Given the description of an element on the screen output the (x, y) to click on. 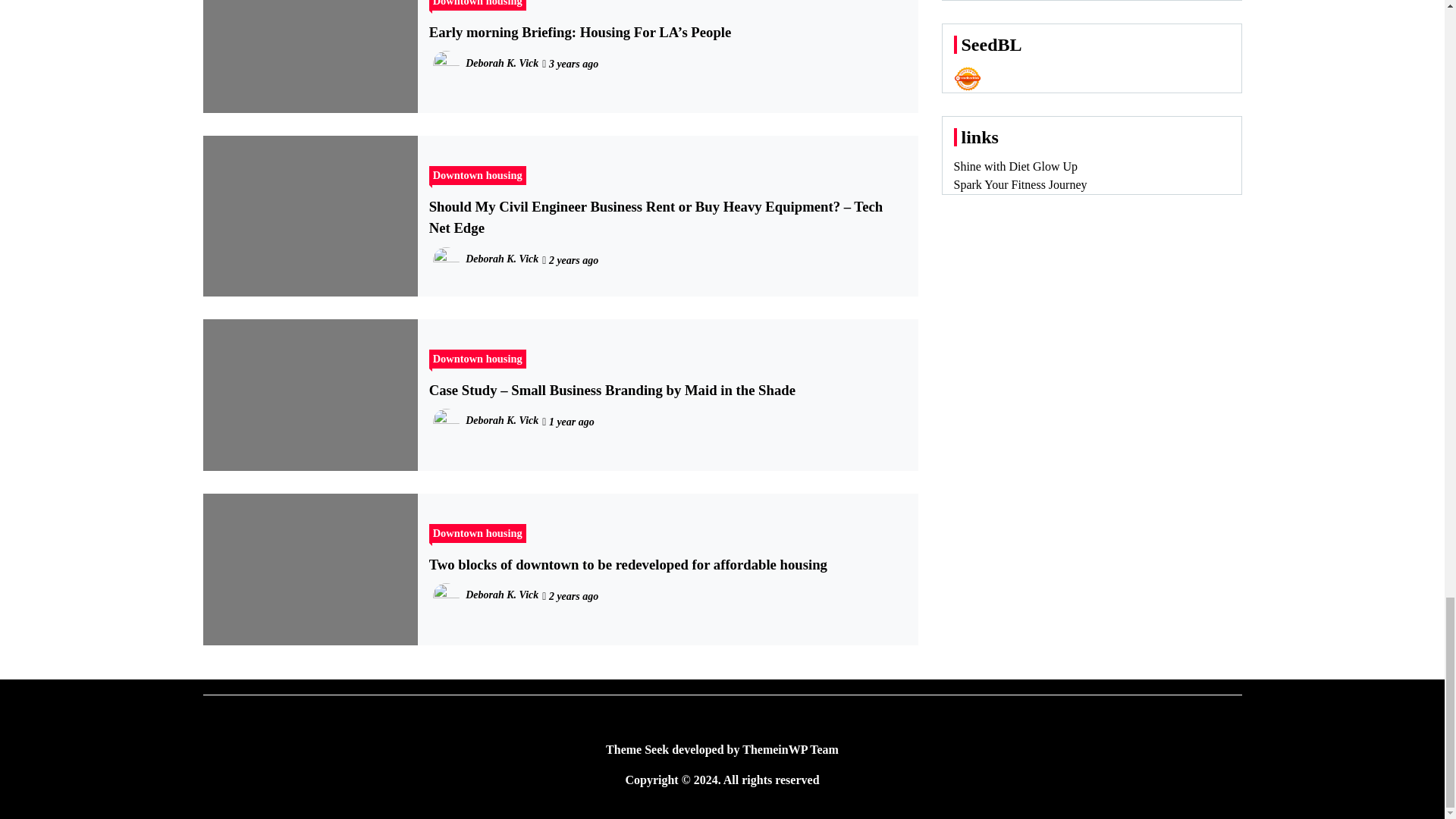
Seedbacklink (967, 78)
